Given the description of an element on the screen output the (x, y) to click on. 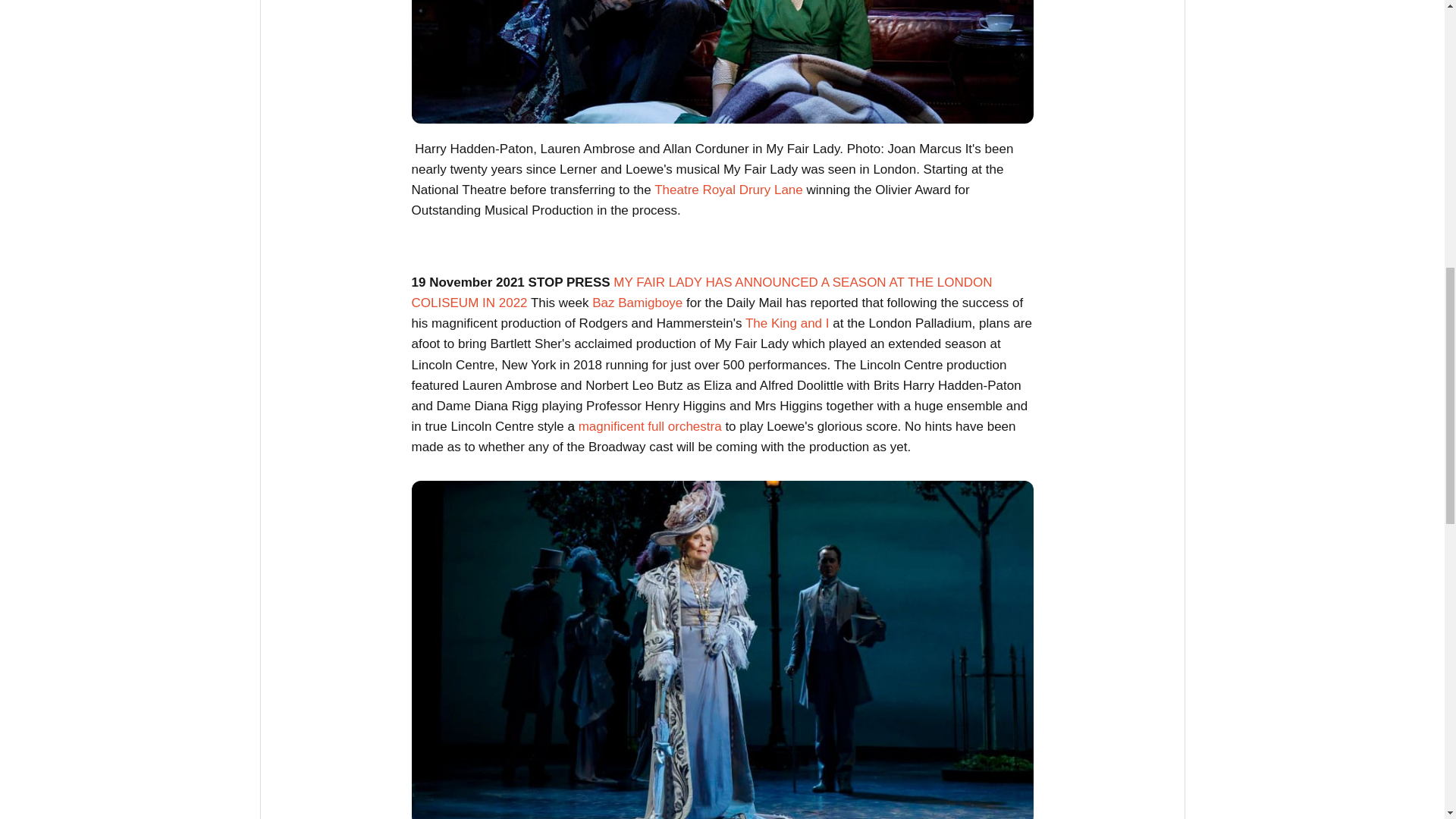
The King and I (787, 323)
Baz Bamigboye (637, 302)
magnificent full orchestra (650, 426)
Theatre Royal Drury Lane (728, 189)
